Given the description of an element on the screen output the (x, y) to click on. 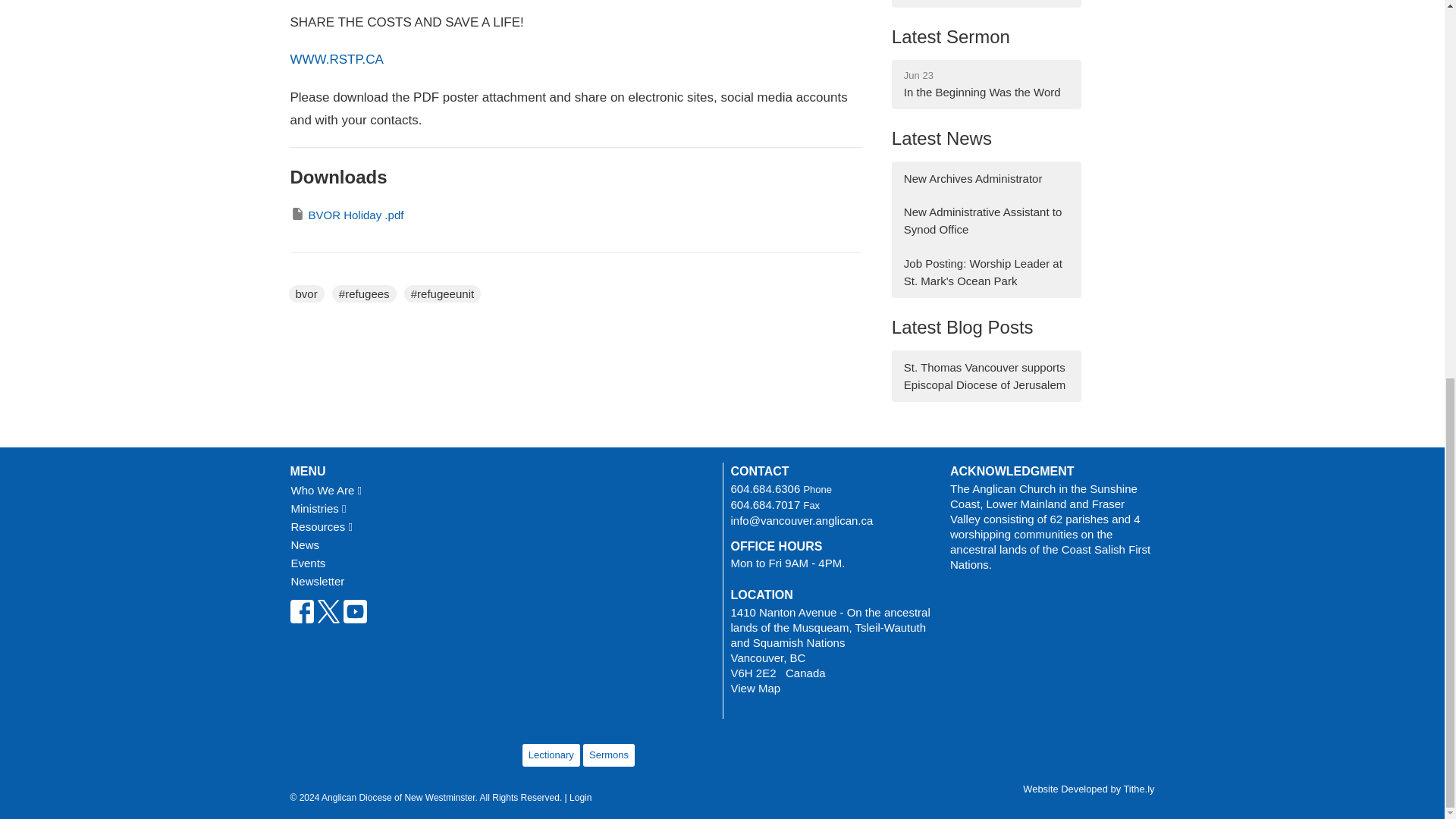
BVOR Holiday .pdf (346, 214)
bvor (306, 293)
Facebook Icon (301, 611)
WWW.RSTP.CA (335, 59)
Youtube Icon (354, 611)
To download, right-click the file and select "Save link as". (346, 214)
Twitter Icon (328, 611)
